Given the description of an element on the screen output the (x, y) to click on. 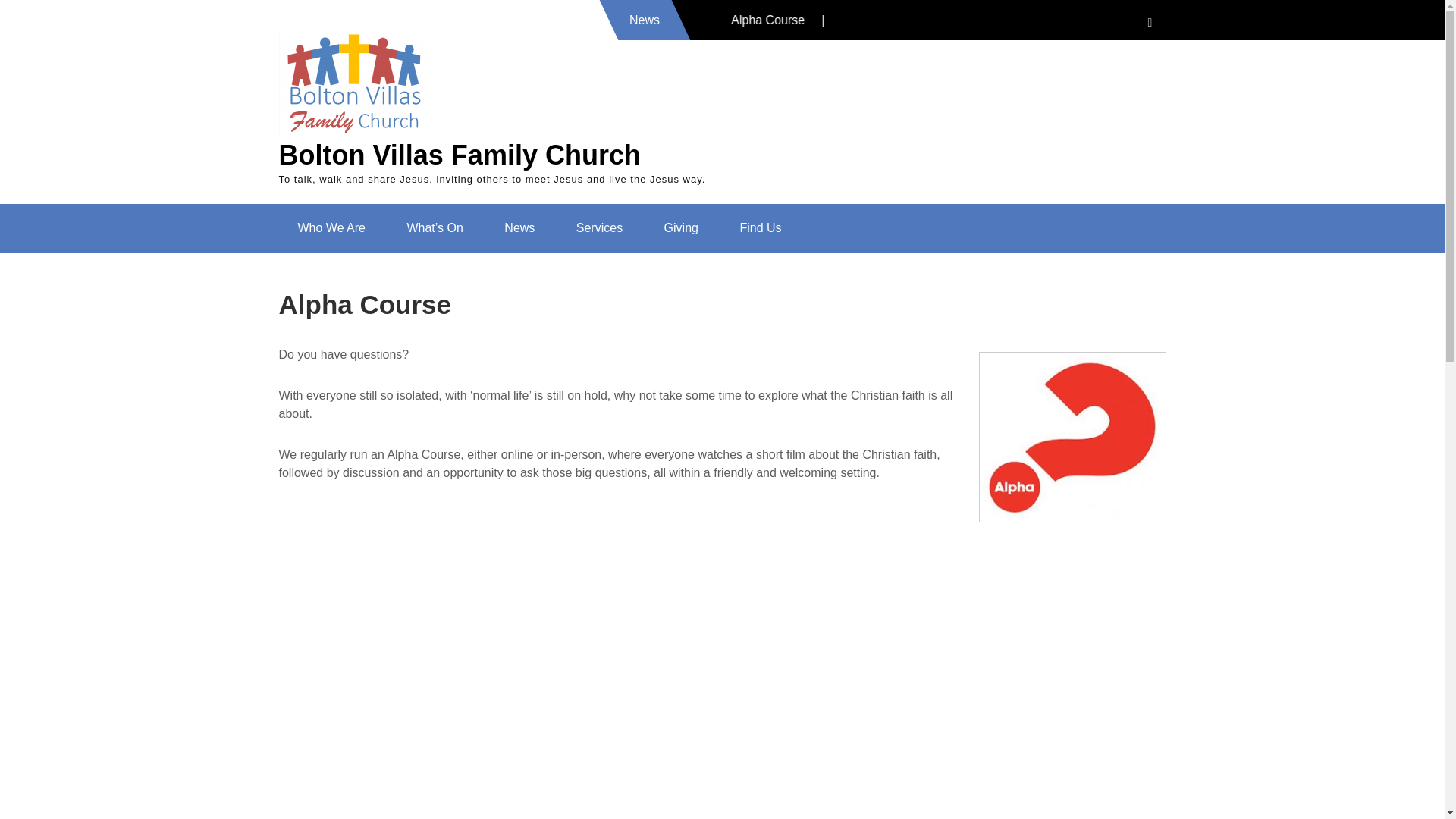
Giving (681, 227)
Bolton Villas Family Church (459, 154)
Who We Are (332, 227)
Services (599, 227)
Find Us (759, 227)
News (518, 227)
